Given the description of an element on the screen output the (x, y) to click on. 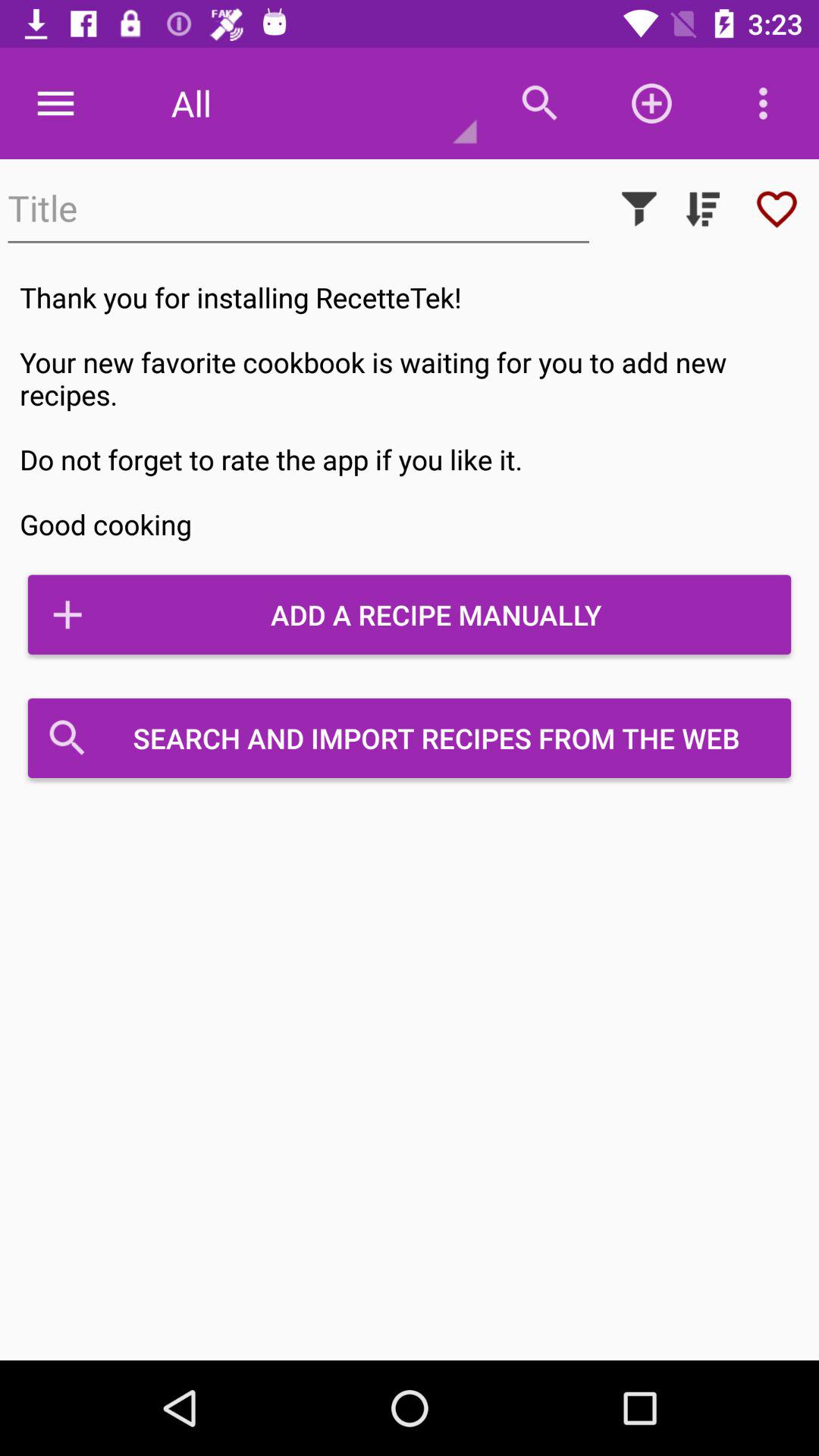
select icon below add a recipe (409, 737)
